Given the description of an element on the screen output the (x, y) to click on. 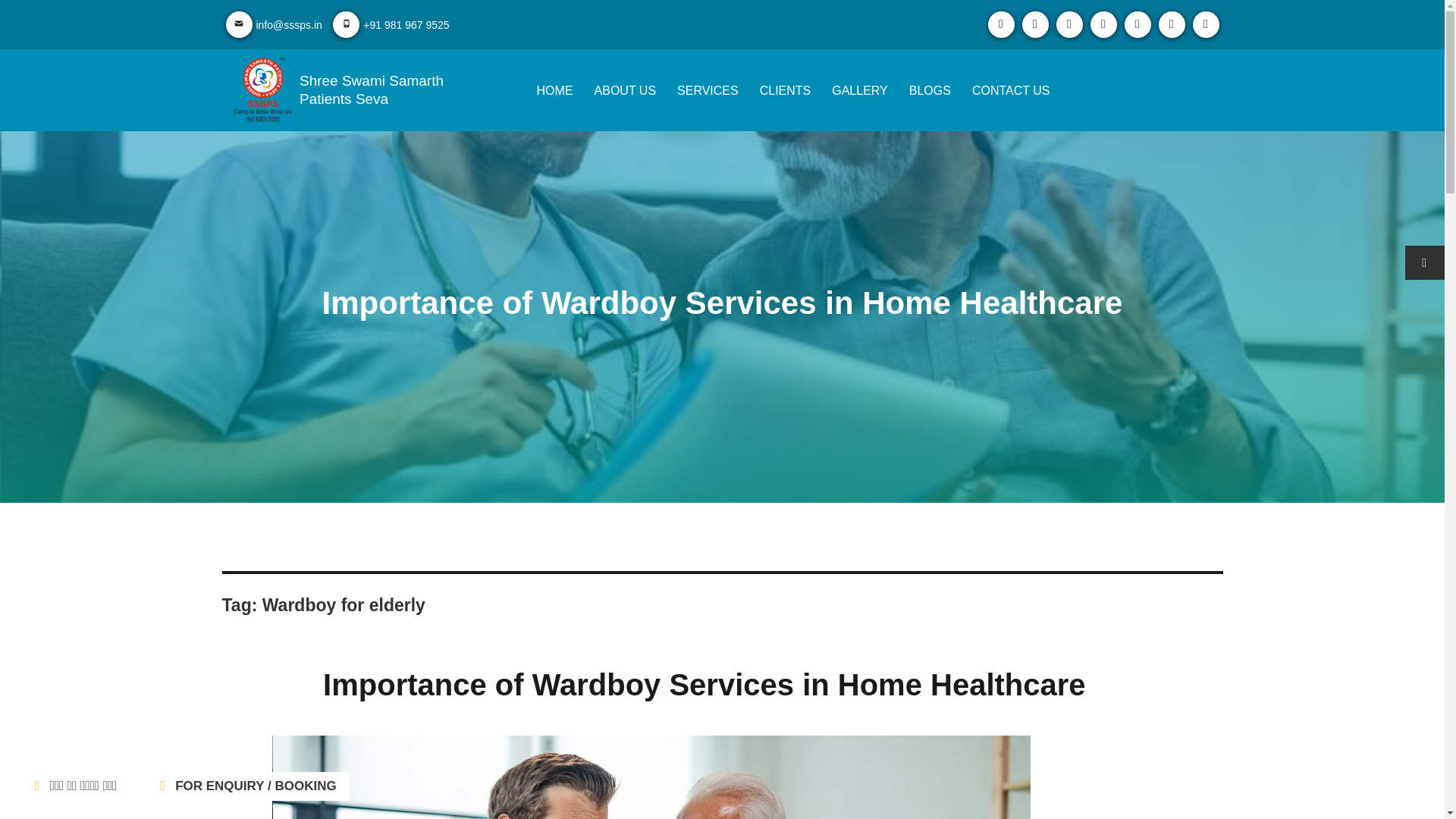
CLIENTS (785, 90)
HOME (555, 90)
Shree Swami Samarth Patients Seva (371, 89)
ABOUT US (625, 90)
SERVICES (707, 90)
CONTACT US (1010, 90)
BLOGS (929, 90)
Importance of Wardboy Services in Home Healthcare (704, 684)
GALLERY (859, 90)
